Given the description of an element on the screen output the (x, y) to click on. 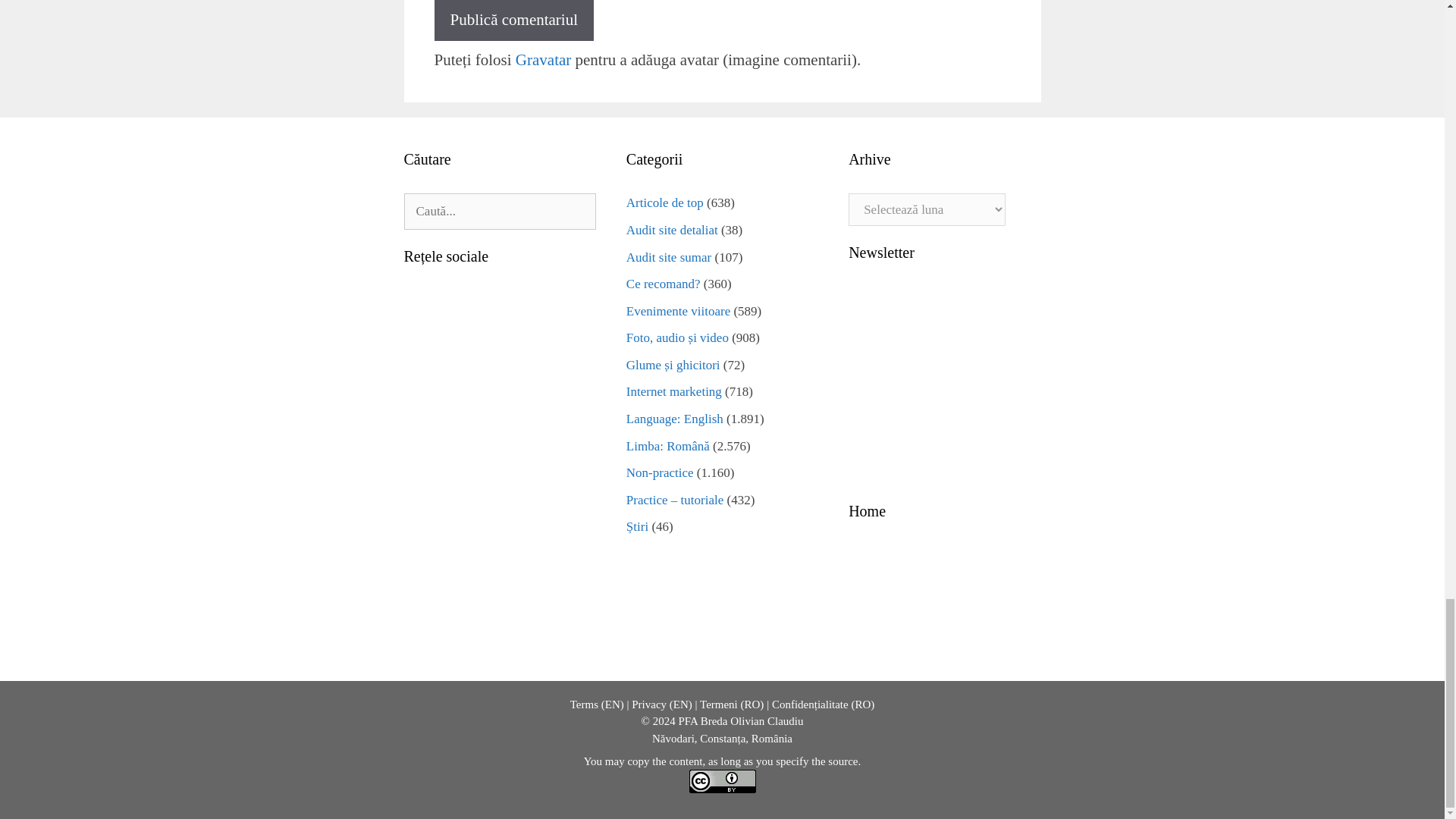
Gravatar (542, 59)
Gravatar (542, 59)
